Given the description of an element on the screen output the (x, y) to click on. 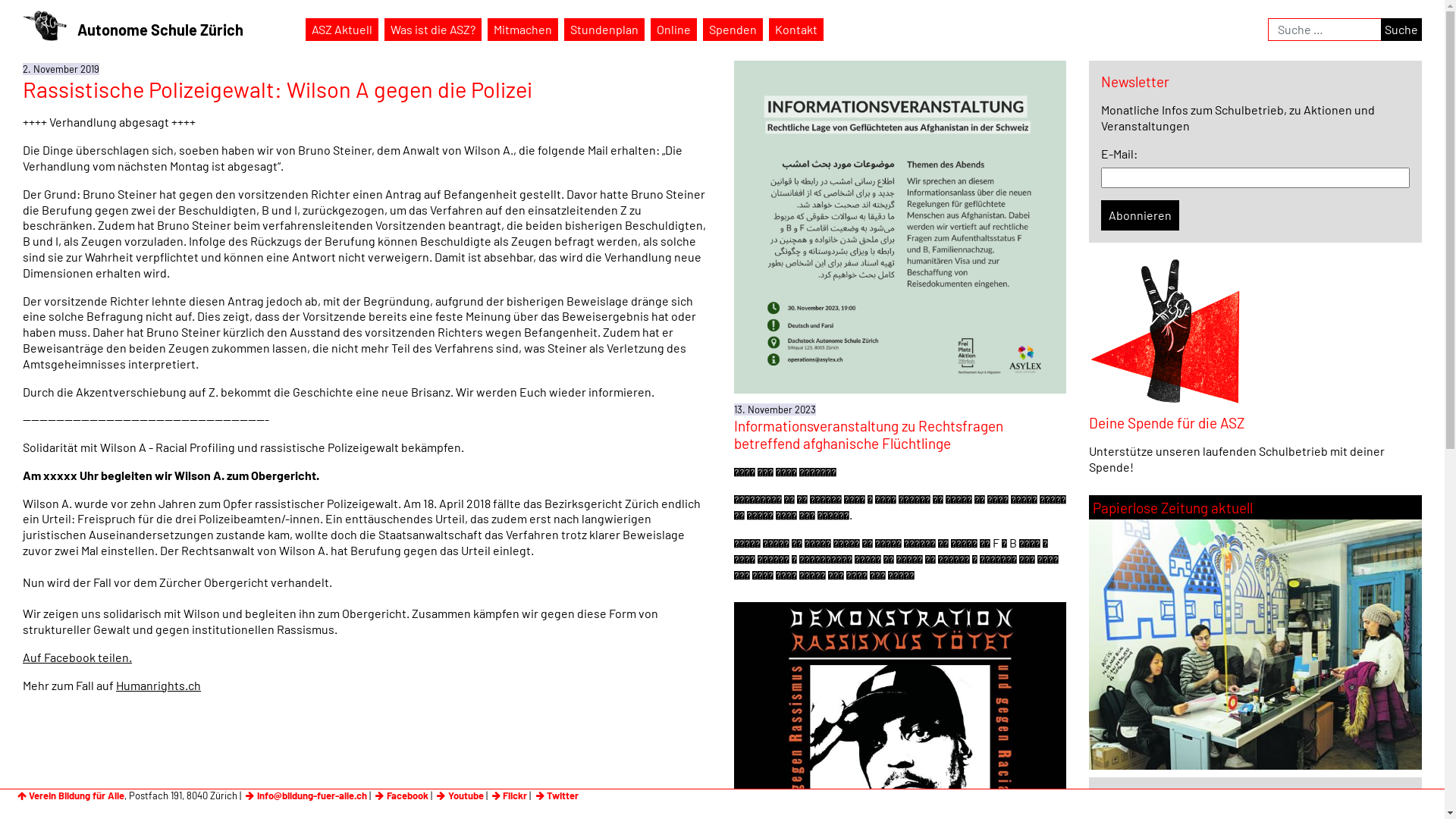
Humanrights.ch Element type: text (158, 684)
Twitter Element type: text (555, 795)
Stundenplan Element type: text (604, 29)
Auf Facebook teilen. Element type: text (76, 656)
Kontakt Element type: text (795, 29)
Online Element type: text (673, 29)
Abonnieren Element type: text (1140, 215)
Youtube Element type: text (458, 795)
Facebook Element type: text (400, 795)
Was ist die ASZ? Element type: text (432, 29)
Mitmachen Element type: text (522, 29)
Spenden Element type: text (732, 29)
Flickr Element type: text (508, 795)
info@bildung-fuer-alle.ch Element type: text (305, 795)
Suche Element type: text (1400, 29)
ASZ Aktuell Element type: text (341, 29)
